Given the description of an element on the screen output the (x, y) to click on. 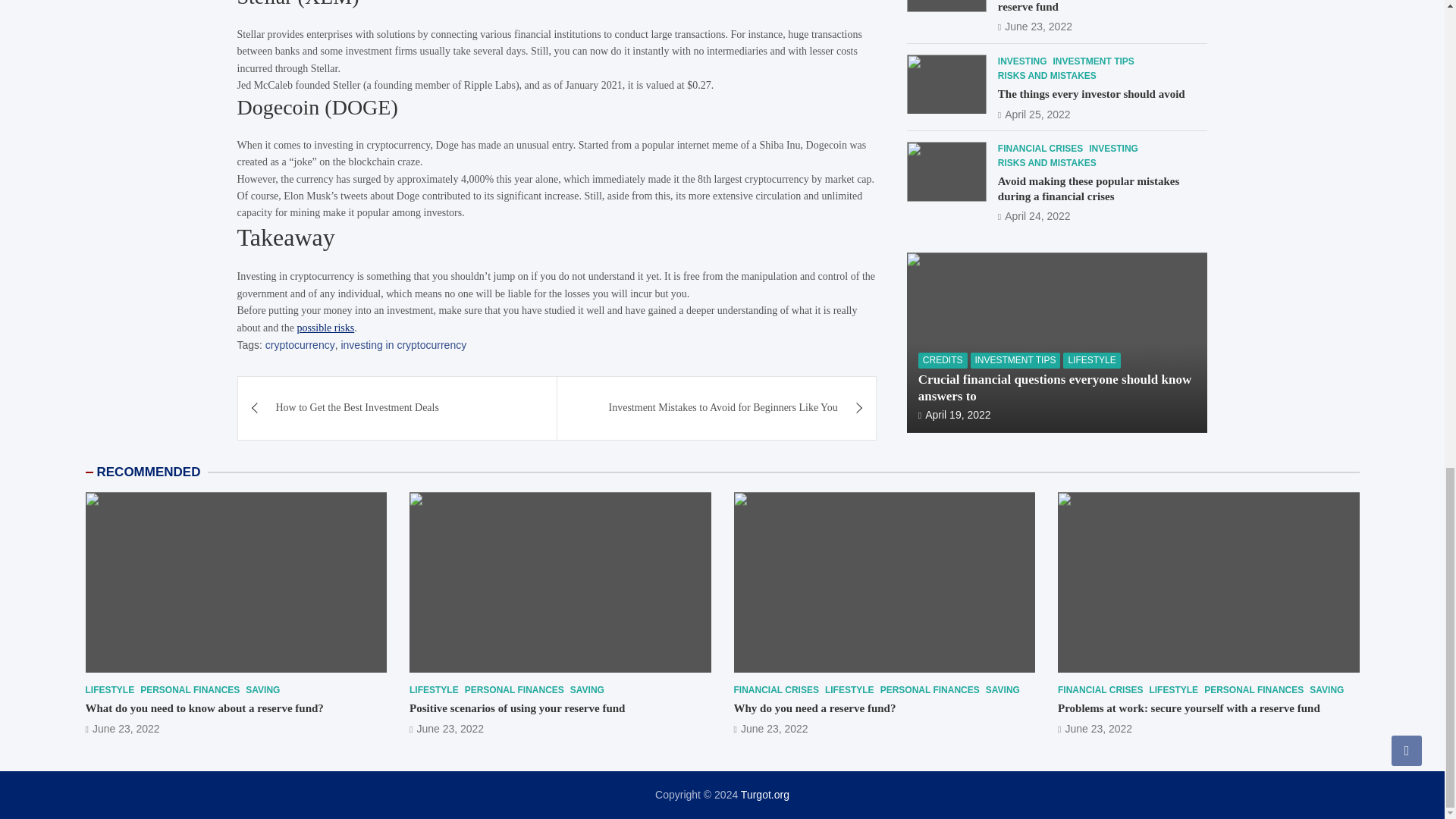
investing in cryptocurrency (402, 344)
Why do you need a reserve fund? (770, 728)
How to Get the Best Investment Deals (397, 407)
Problems at work: secure yourself with a reserve fund (1095, 728)
Positive scenarios of using your reserve fund (446, 728)
Turgot.org (765, 794)
possible risks (325, 326)
Investment Mistakes to Avoid for Beginners Like You (716, 407)
What do you need to know about a reserve fund? (121, 728)
cryptocurrency (299, 344)
